Given the description of an element on the screen output the (x, y) to click on. 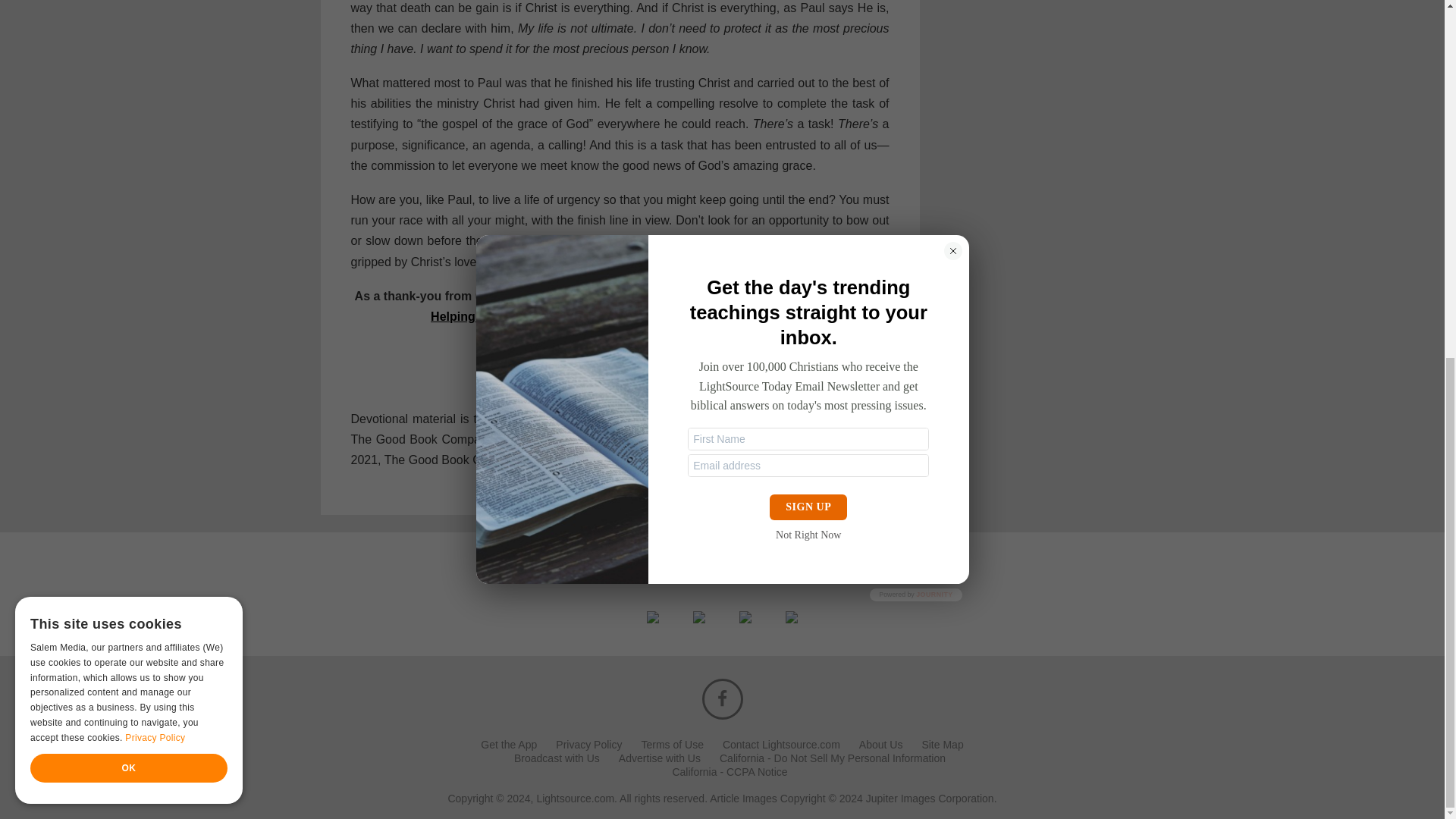
Privacy Policy (588, 744)
thegoodbook.com (548, 439)
Get the App (508, 744)
Site Map (941, 744)
California - Do Not Sell My Personal Information (831, 757)
Truth For Life (708, 384)
Terms of Use (671, 744)
Truth For Life daily devotional (639, 418)
Broadcast with Us (556, 757)
Contact Lightsource.com (781, 744)
California - CCPA Notice (729, 771)
About Us (880, 744)
Advertise with Us (659, 757)
